Given the description of an element on the screen output the (x, y) to click on. 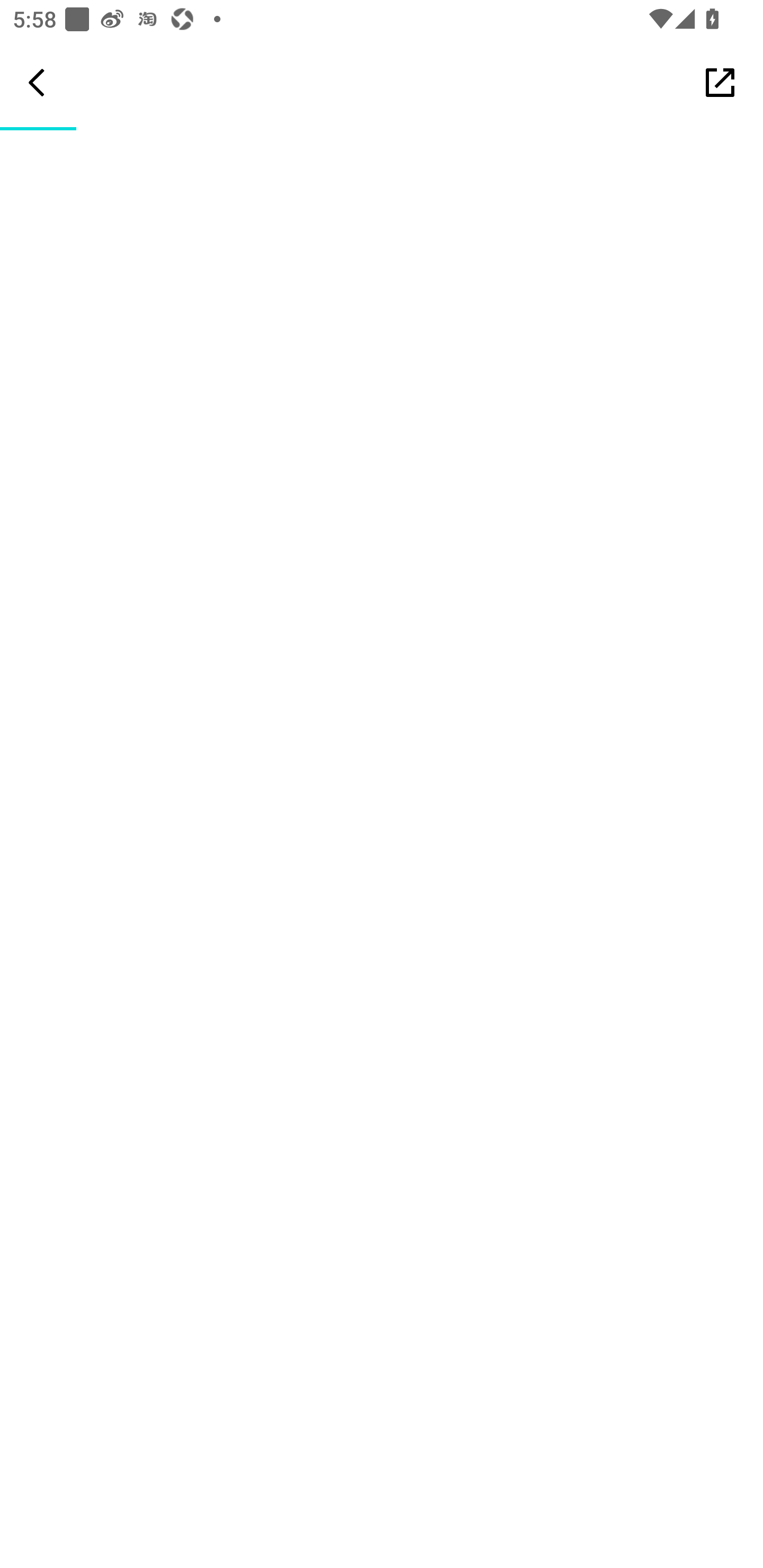
Navigate up (36, 82)
